Given the description of an element on the screen output the (x, y) to click on. 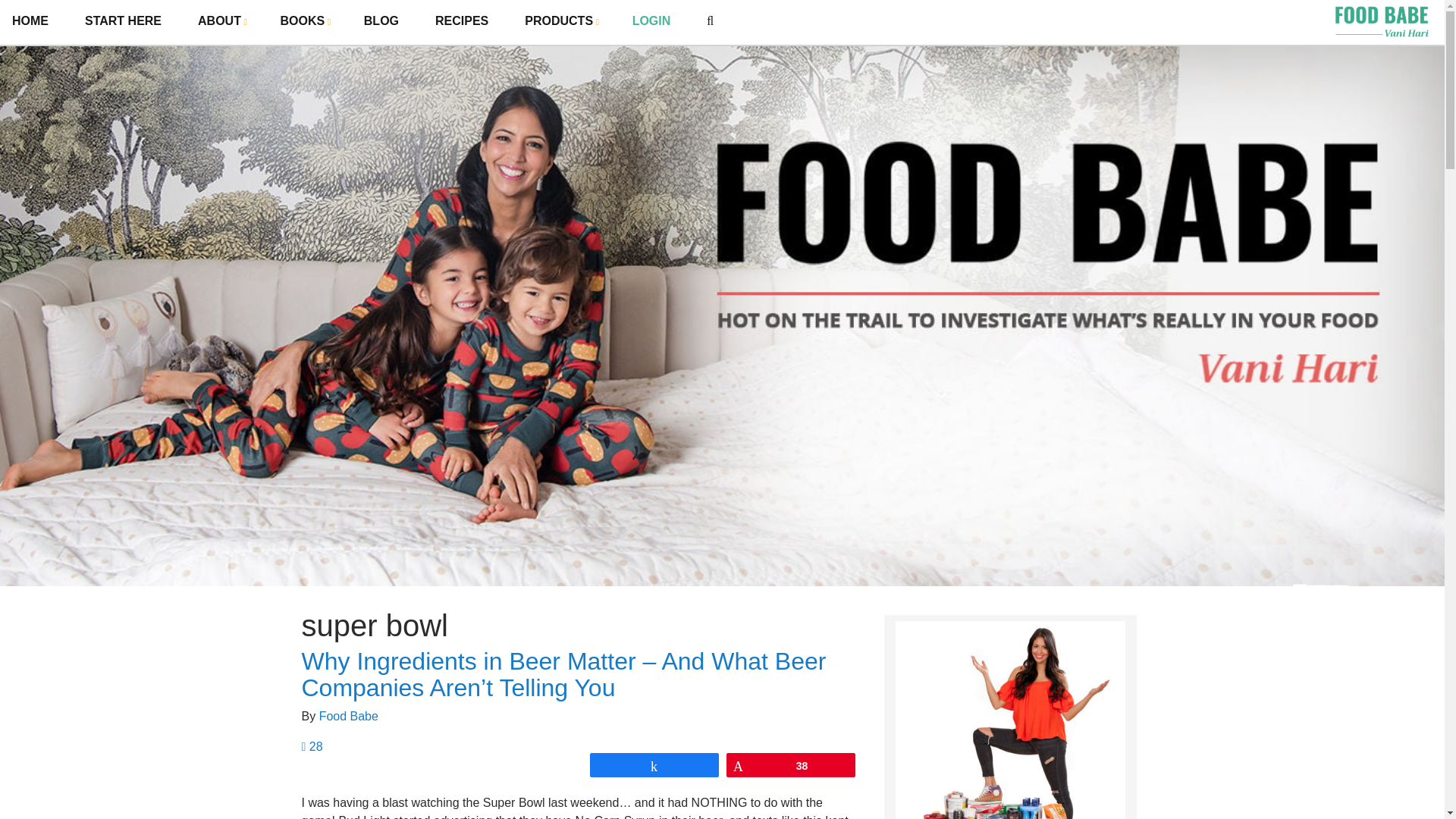
PRODUCTS (559, 20)
HOME (29, 21)
RECIPES (461, 21)
BOOKS (304, 20)
Food Babe (348, 716)
BLOG (381, 21)
ABOUT (220, 20)
LOGIN (651, 21)
START HERE (122, 21)
38 (789, 764)
28 (312, 746)
